Given the description of an element on the screen output the (x, y) to click on. 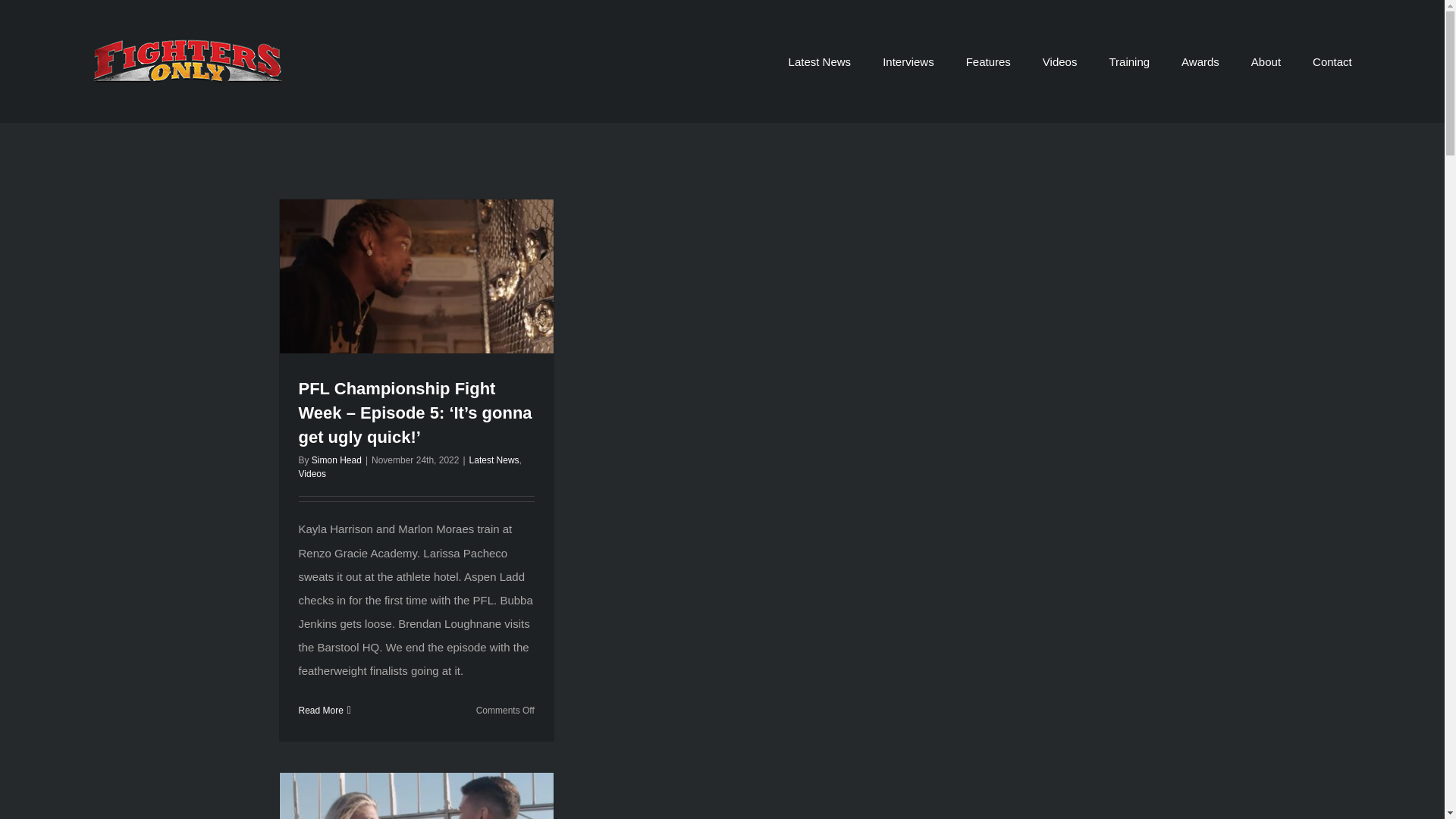
Interviews (908, 61)
Videos (312, 473)
Latest News (820, 61)
Latest News (493, 460)
Simon Head (336, 460)
Read More (320, 710)
Posts by Simon Head (336, 460)
